Given the description of an element on the screen output the (x, y) to click on. 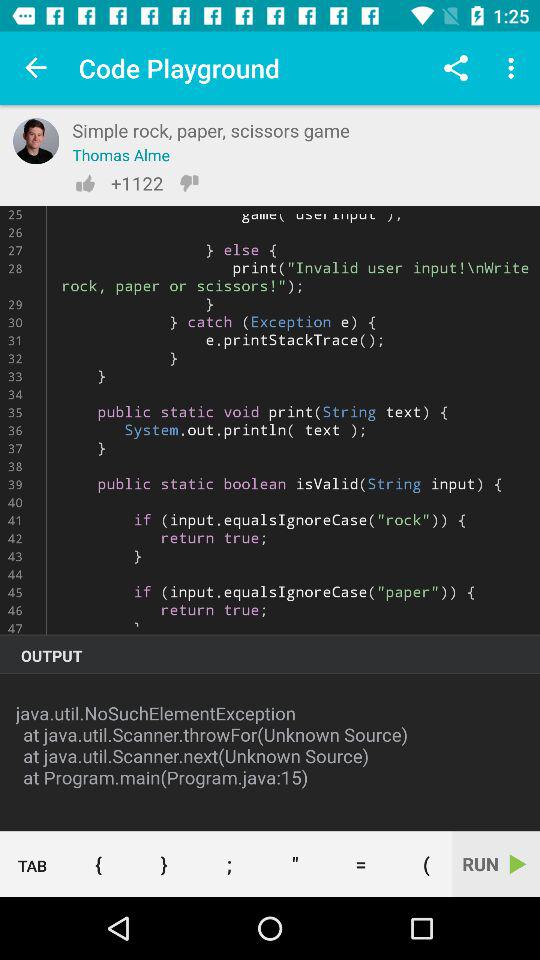
like message (85, 183)
